Given the description of an element on the screen output the (x, y) to click on. 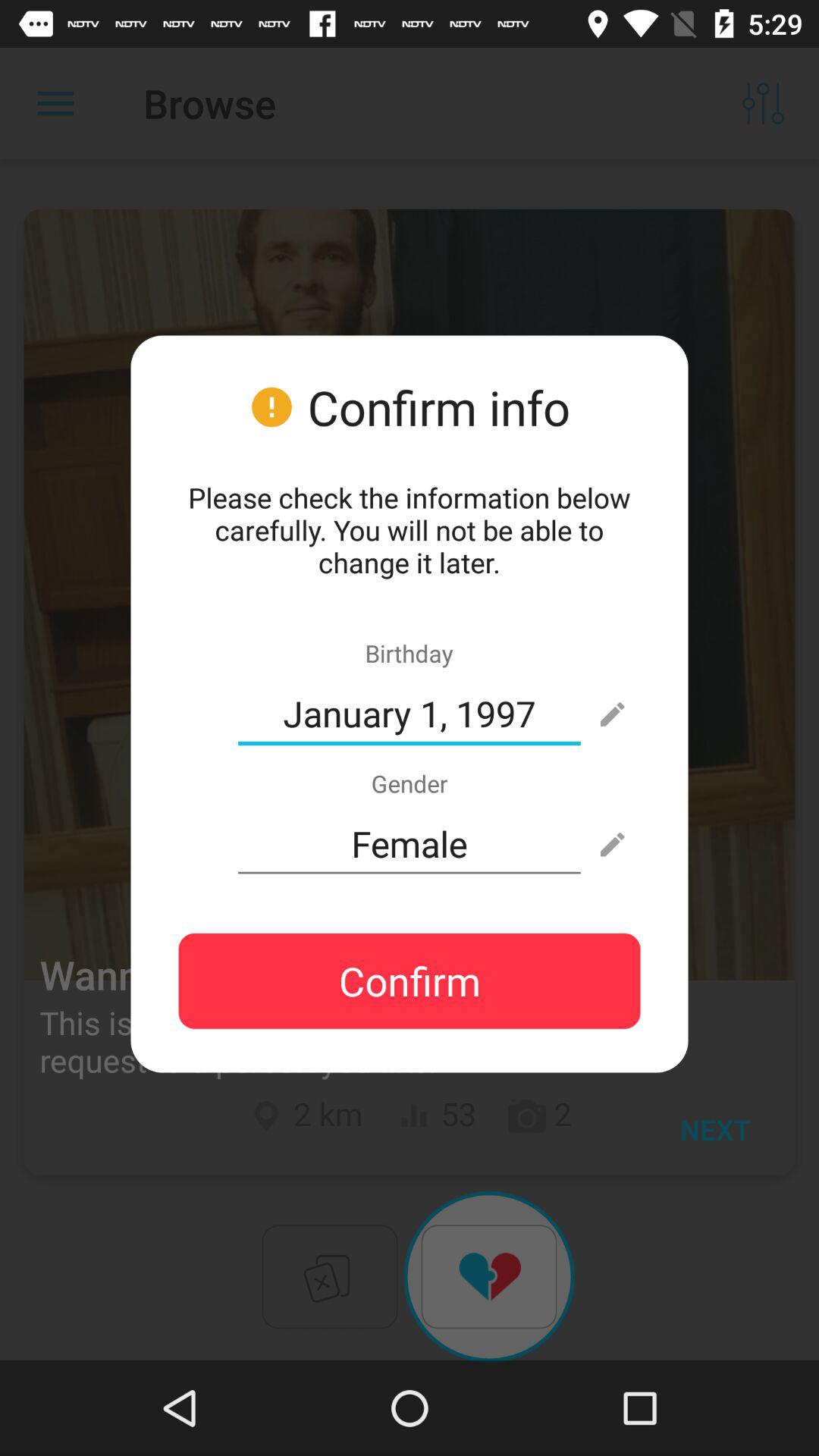
press item below gender item (409, 844)
